Given the description of an element on the screen output the (x, y) to click on. 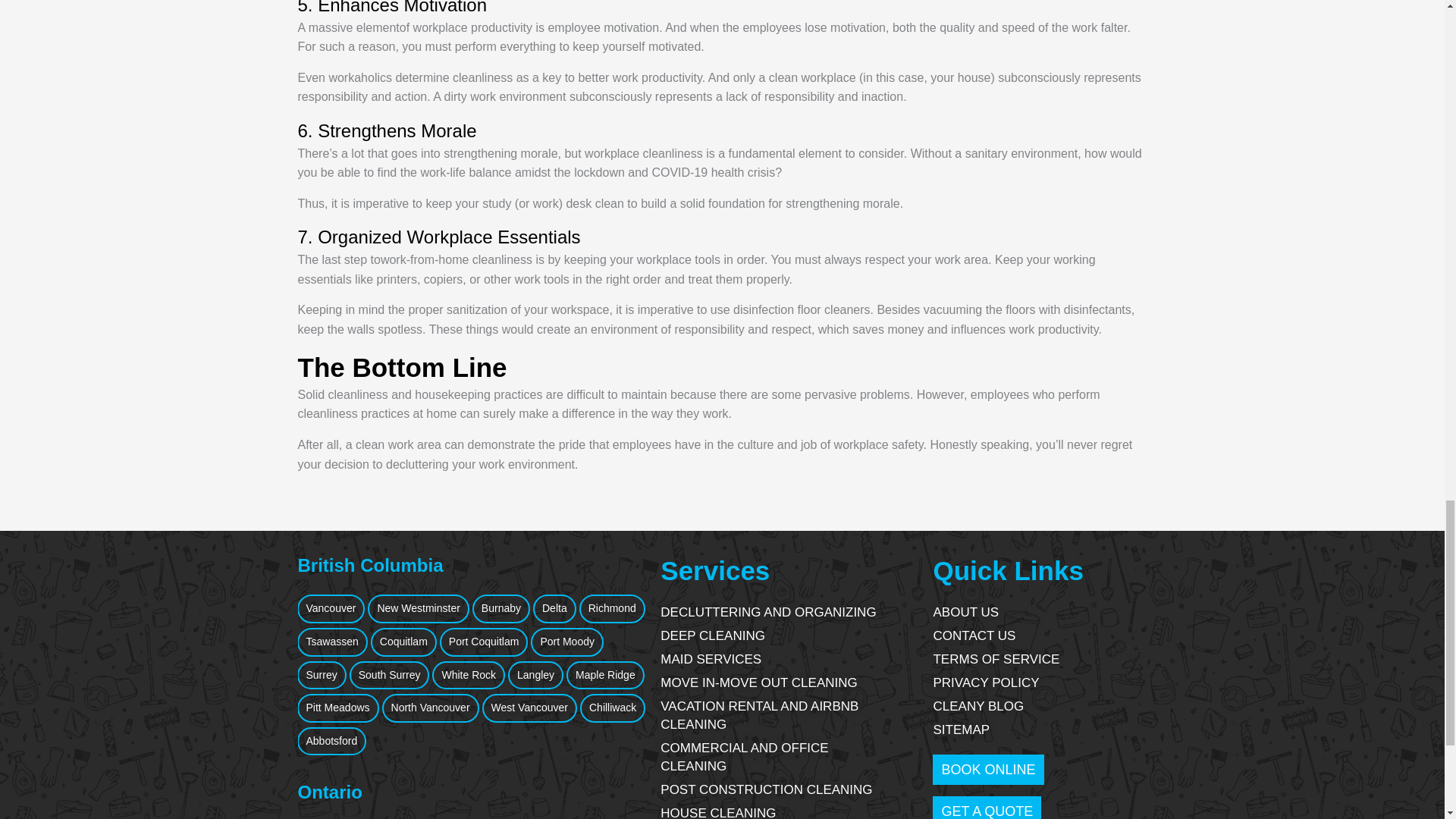
Langley (535, 675)
Burnaby (500, 608)
Tsawassen (332, 642)
Maple Ridge (605, 675)
White Rock (468, 675)
South Surrey (389, 675)
Surrey (321, 675)
Richmond (612, 608)
Coquitlam (403, 642)
Port Coquitlam (483, 642)
